Given the description of an element on the screen output the (x, y) to click on. 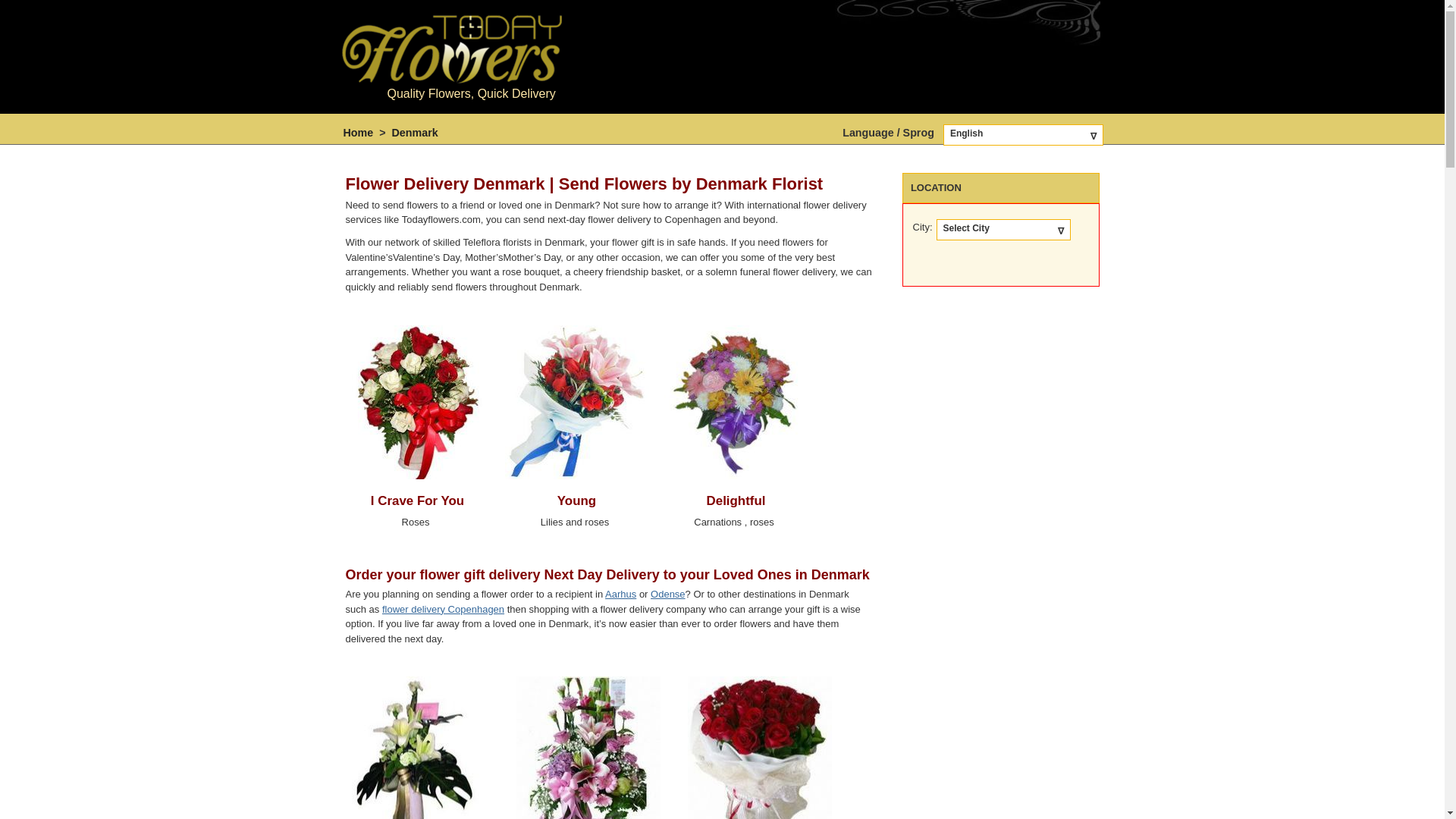
Aarhus (620, 593)
Home (357, 132)
flower delivery Copenhagen (442, 609)
Denmark (414, 132)
Odense (667, 593)
